Given the description of an element on the screen output the (x, y) to click on. 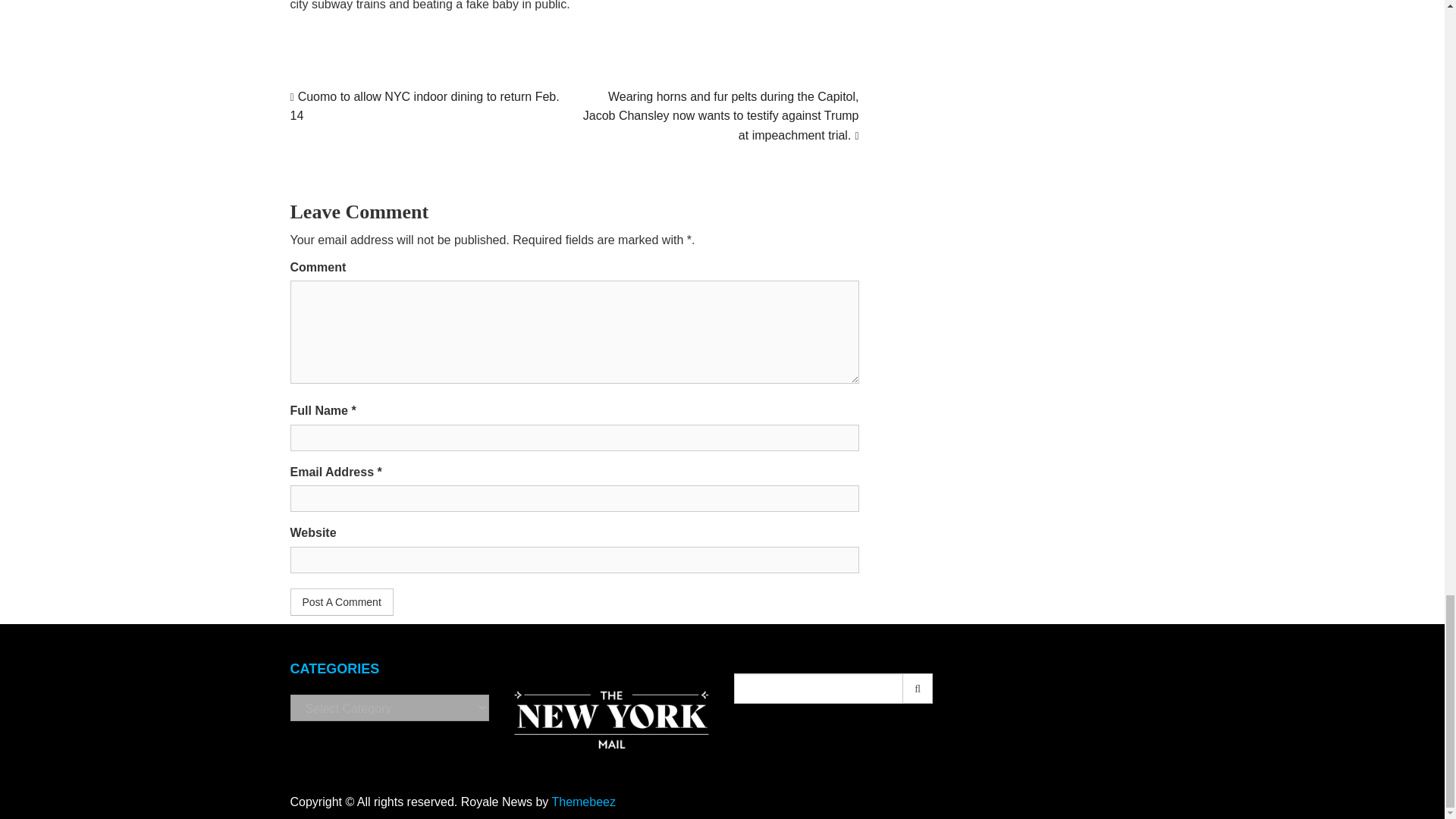
Cuomo to allow NYC indoor dining to return Feb. 14 (424, 106)
Post A Comment (341, 601)
Post A Comment (341, 601)
